Given the description of an element on the screen output the (x, y) to click on. 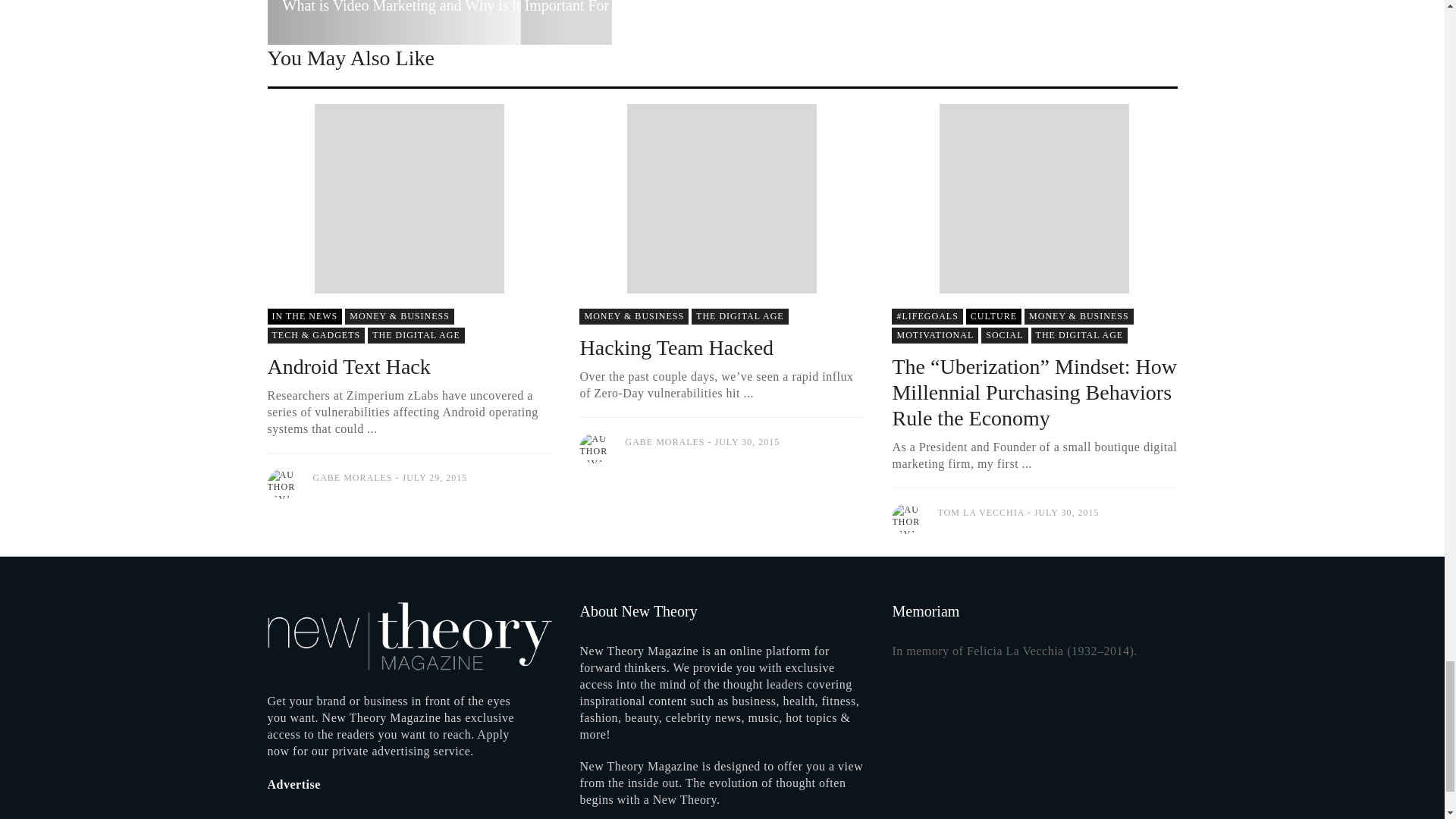
View all posts in 153 (304, 316)
View all posts in 145 (1004, 335)
View all posts in 152 (416, 335)
View all posts in 143 (926, 316)
View all posts in 154 (934, 335)
View all posts in 152 (740, 316)
View all posts in 144 (633, 316)
View all posts in 158 (994, 316)
View all posts in 144 (399, 316)
View all posts in 144 (1079, 316)
View all posts in 155 (315, 335)
View all posts in 152 (1079, 335)
